Given the description of an element on the screen output the (x, y) to click on. 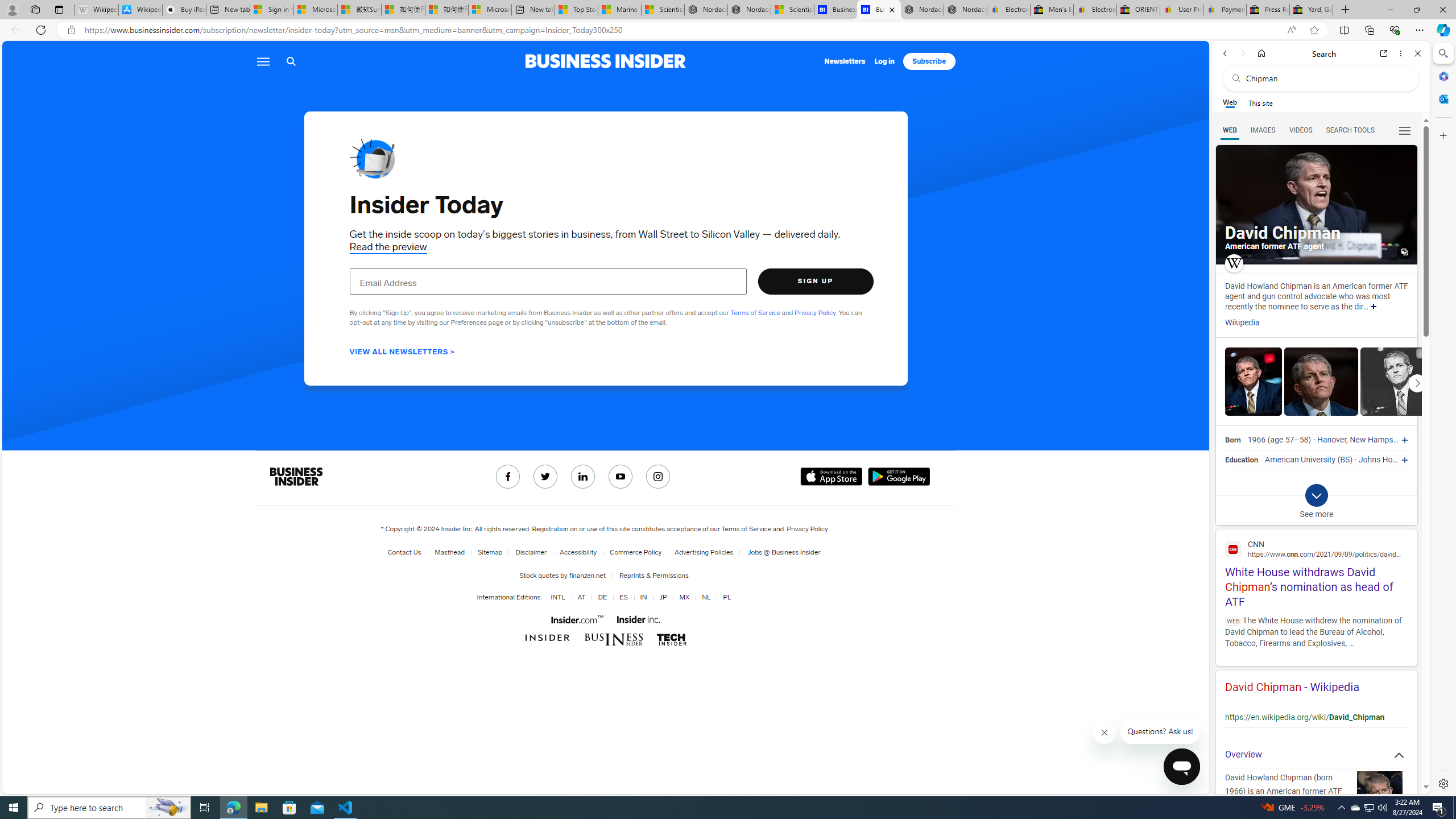
JP (662, 597)
Johns Hopkins University (1403, 460)
Business Insider logo (605, 60)
Born (1232, 439)
Contact Us (403, 552)
Download on the App Store (830, 476)
DE (602, 597)
All images (1315, 204)
All images (1404, 252)
